Given the description of an element on the screen output the (x, y) to click on. 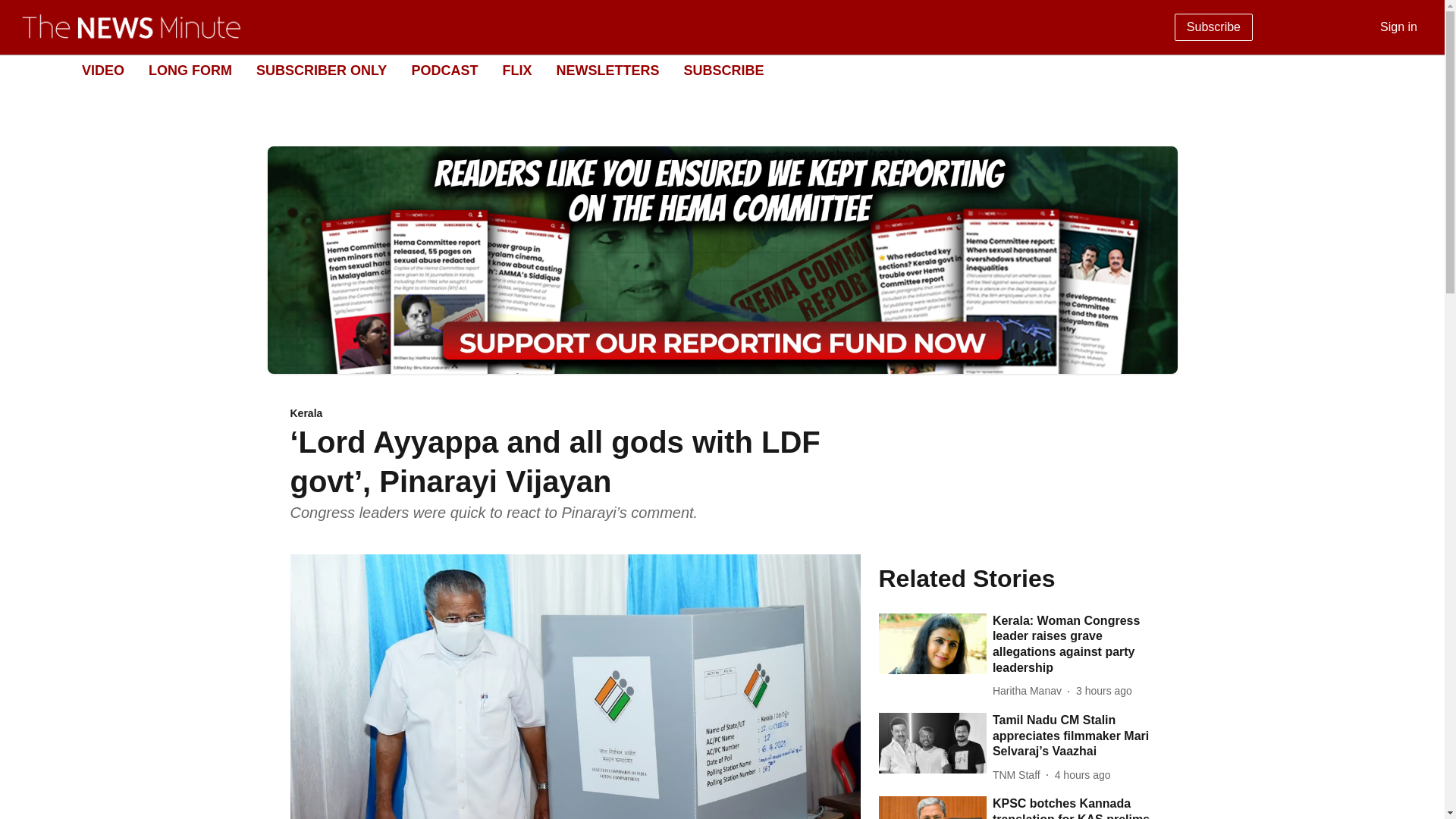
FLIX (516, 70)
PODCAST (443, 70)
Kerala (574, 414)
LONG FORM (189, 70)
TNM Staff (1019, 774)
VIDEO (102, 70)
2024-09-02 13:43 (1103, 691)
2024-09-02 12:25 (1082, 774)
